Given the description of an element on the screen output the (x, y) to click on. 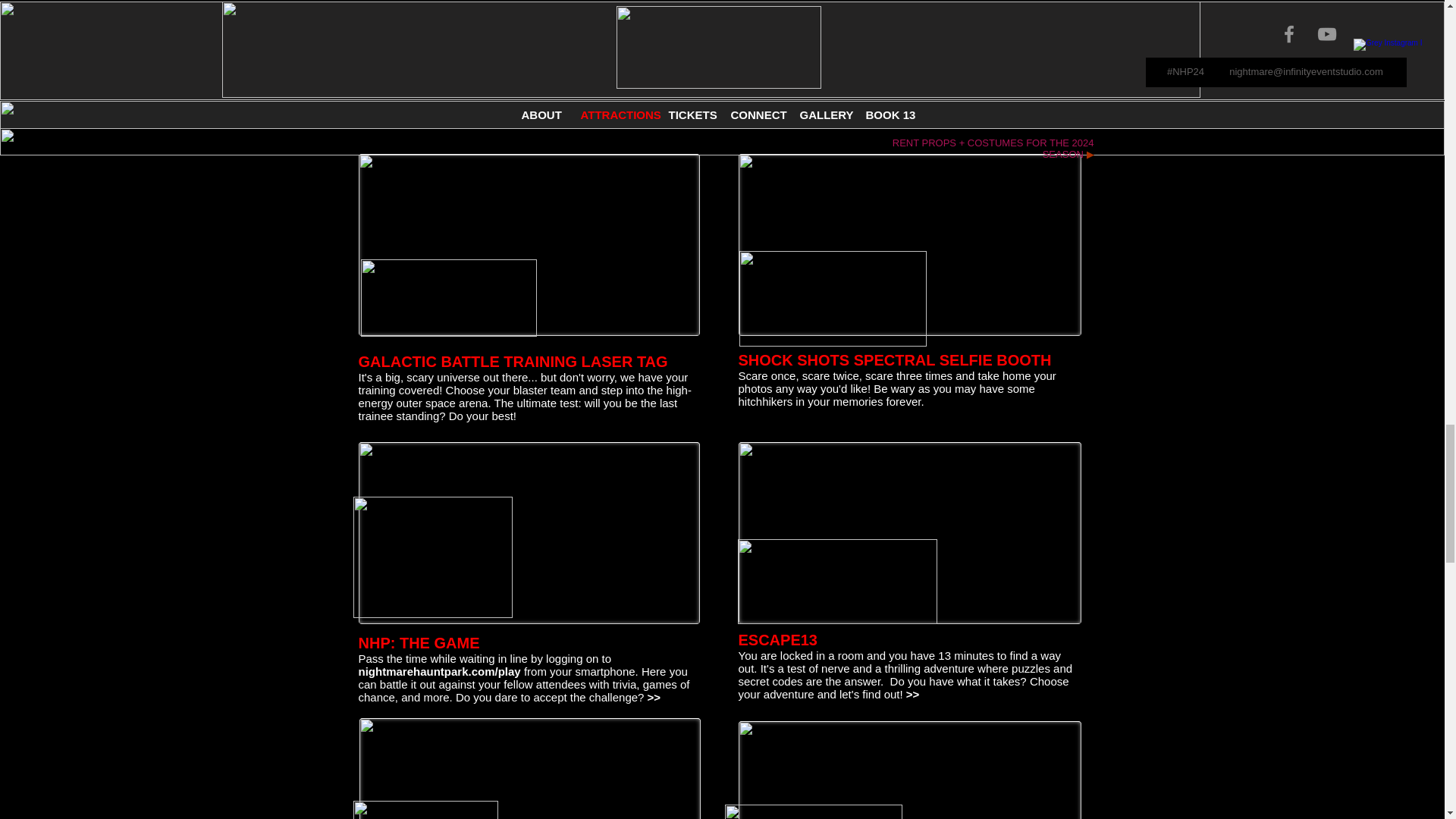
ESCAPE13 (778, 639)
